Given the description of an element on the screen output the (x, y) to click on. 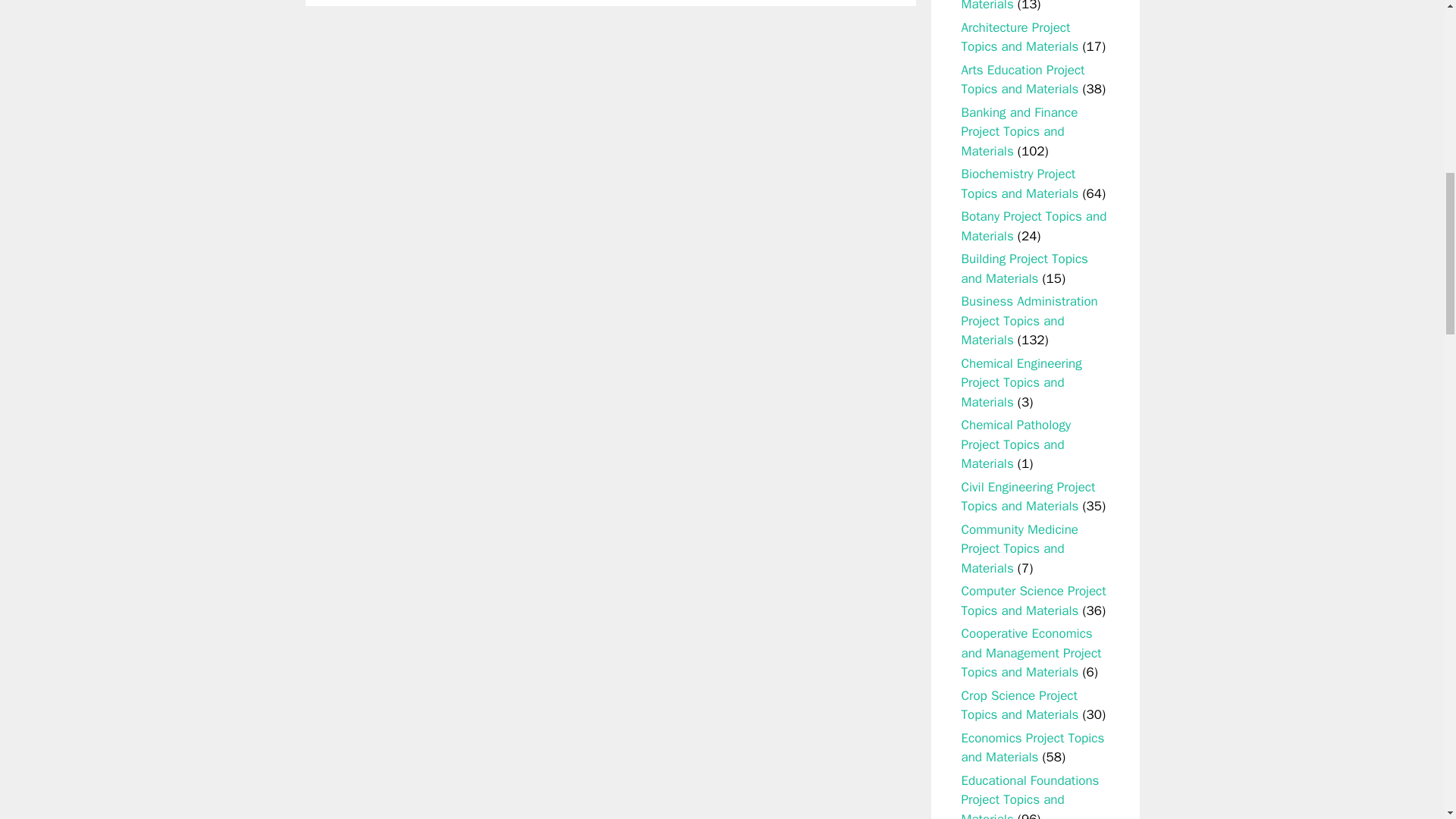
Archaeology and Tourism Project Topics and Materials (1031, 6)
Building Project Topics and Materials (1023, 268)
Scroll back to top (1406, 720)
Educational Foundations Project Topics and Materials (1029, 796)
Biochemistry Project Topics and Materials (1019, 183)
Crop Science Project Topics and Materials (1019, 705)
Civil Engineering Project Topics and Materials (1028, 497)
Botany Project Topics and Materials (1033, 226)
Business Administration Project Topics and Materials (1028, 320)
